Given the description of an element on the screen output the (x, y) to click on. 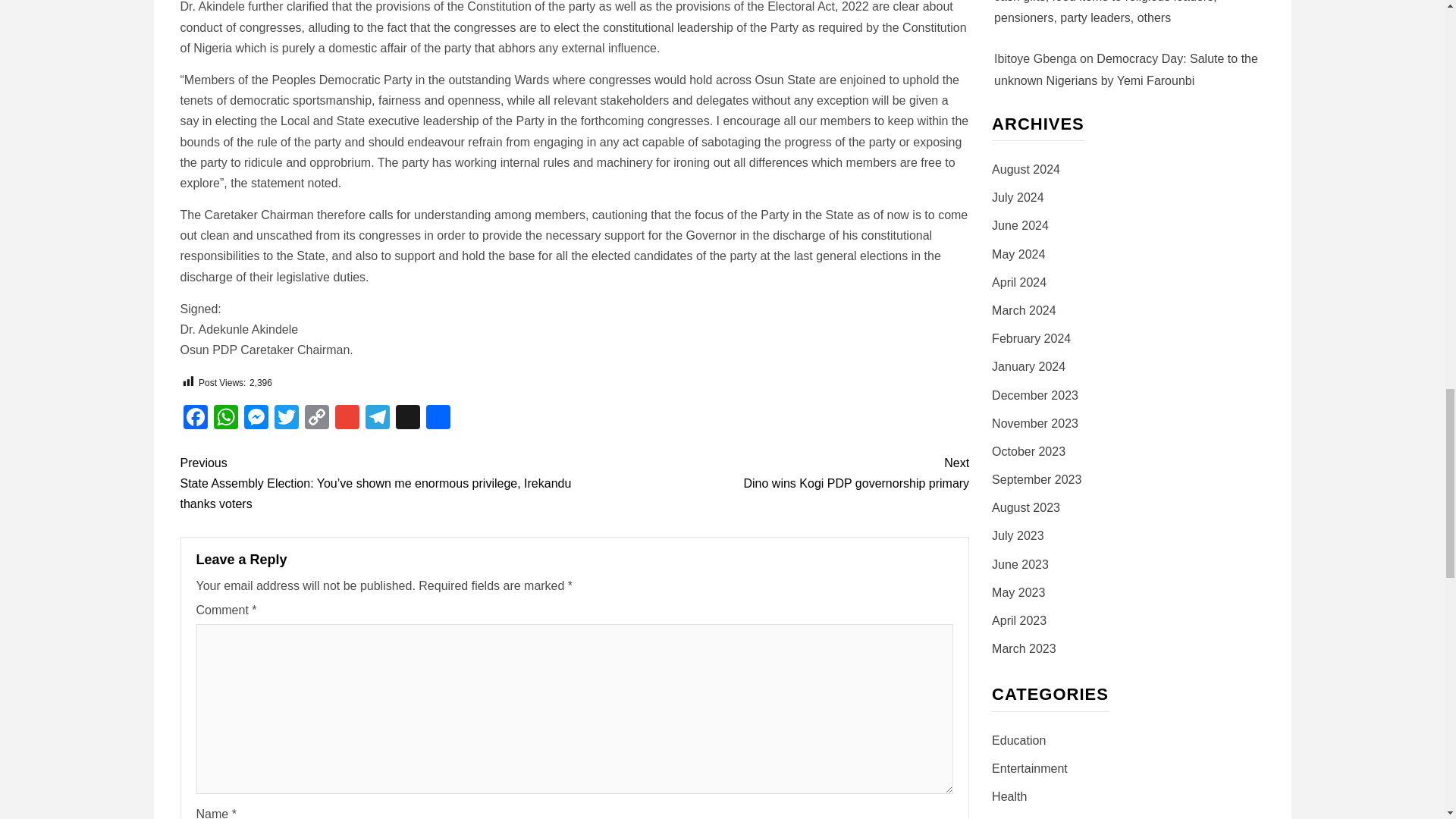
Gmail (346, 418)
Facebook (195, 418)
Snapchat (408, 418)
Telegram (377, 418)
Twitter (285, 418)
Copy Link (316, 418)
Facebook (195, 418)
Messenger (255, 418)
Gmail (346, 418)
